Given the description of an element on the screen output the (x, y) to click on. 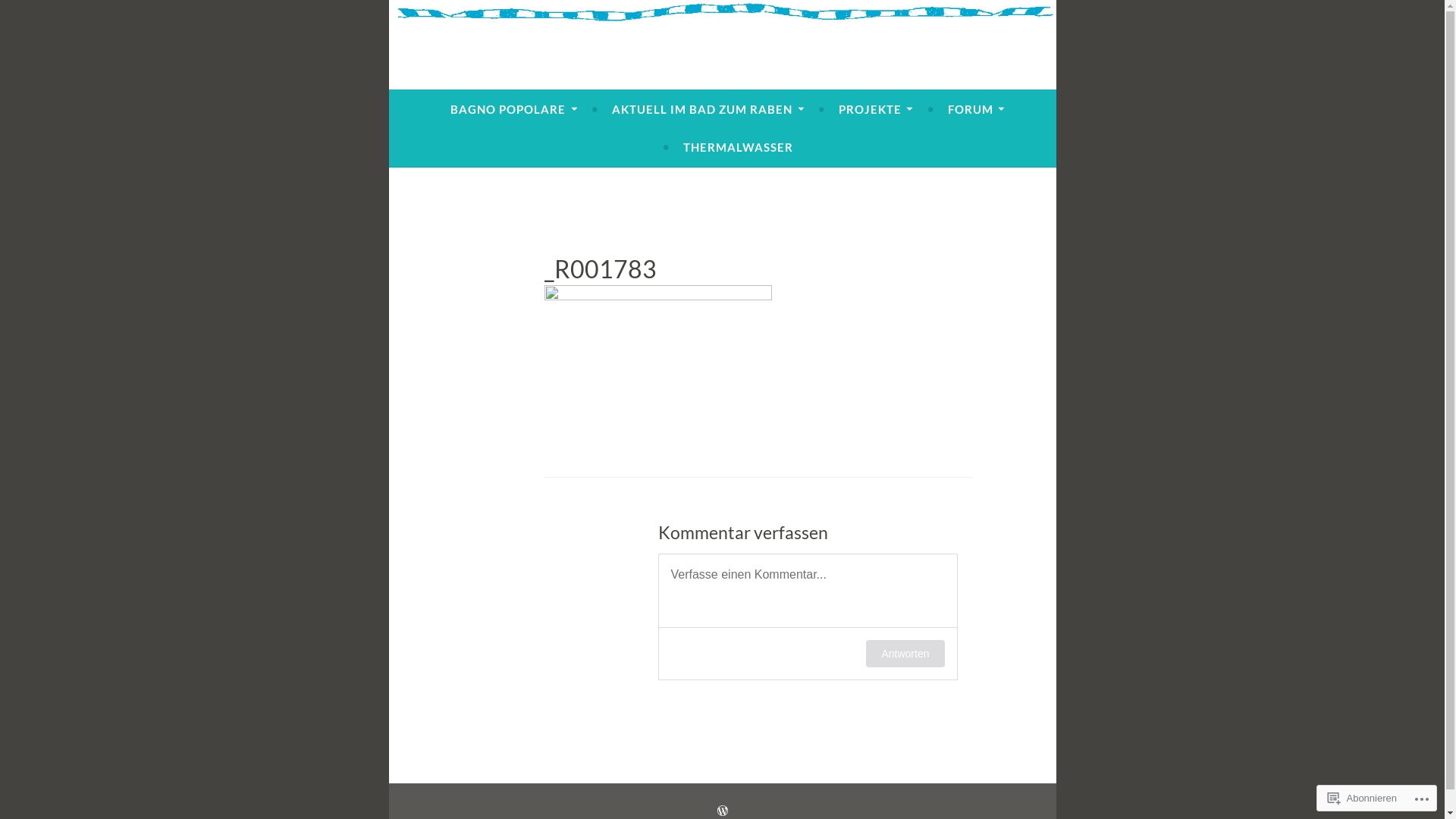
AKTUELL IM BAD ZUM RABEN Element type: text (707, 108)
Antworten Element type: text (905, 653)
PROJEKTE Element type: text (875, 108)
BAGNO POPOLARE Element type: text (513, 108)
FORUM Element type: text (975, 108)
Abonnieren Element type: text (1361, 797)
THERMALWASSER Element type: text (738, 146)
ERSTELLE EINE WEBSITE ODER EIN BLOG AUF WORDPRESS.COM Element type: text (722, 810)
Bagni Popolari Baden Element type: text (596, 75)
